Given the description of an element on the screen output the (x, y) to click on. 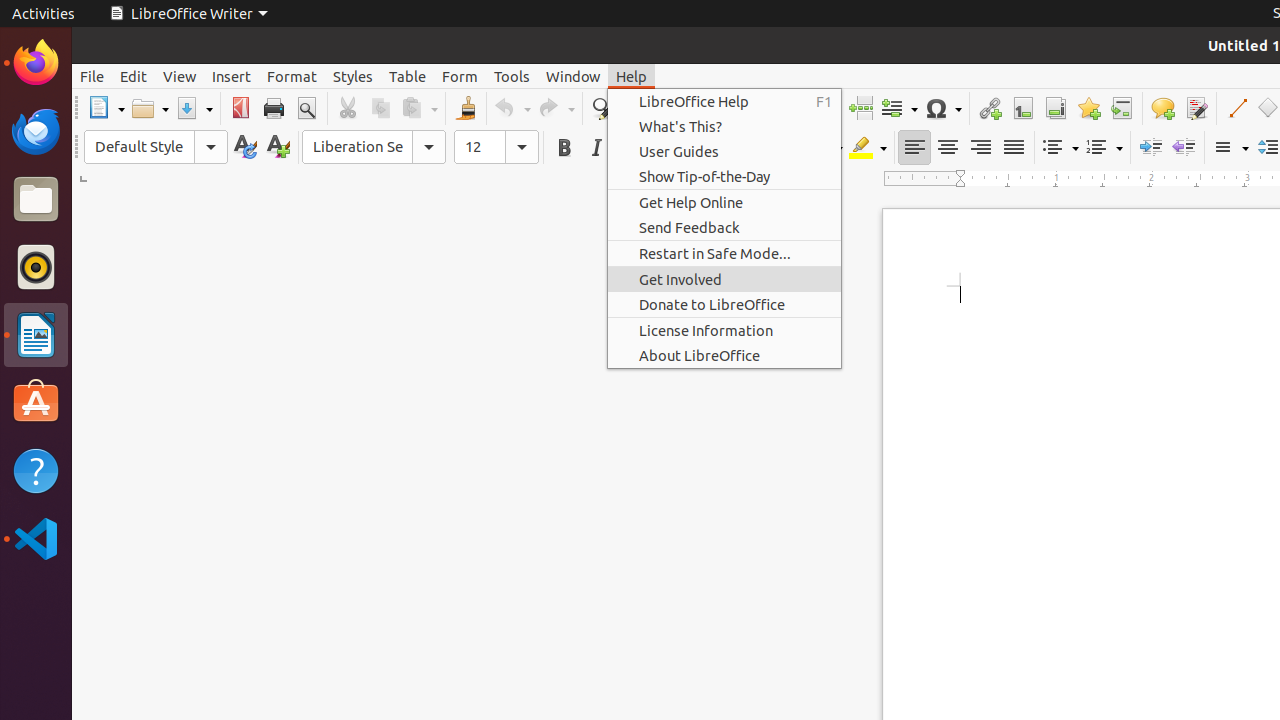
Endnote Element type: push-button (1055, 108)
Files Element type: push-button (36, 199)
User Guides Element type: menu-item (724, 151)
File Element type: menu (92, 76)
Line Spacing Element type: push-button (1230, 147)
